Given the description of an element on the screen output the (x, y) to click on. 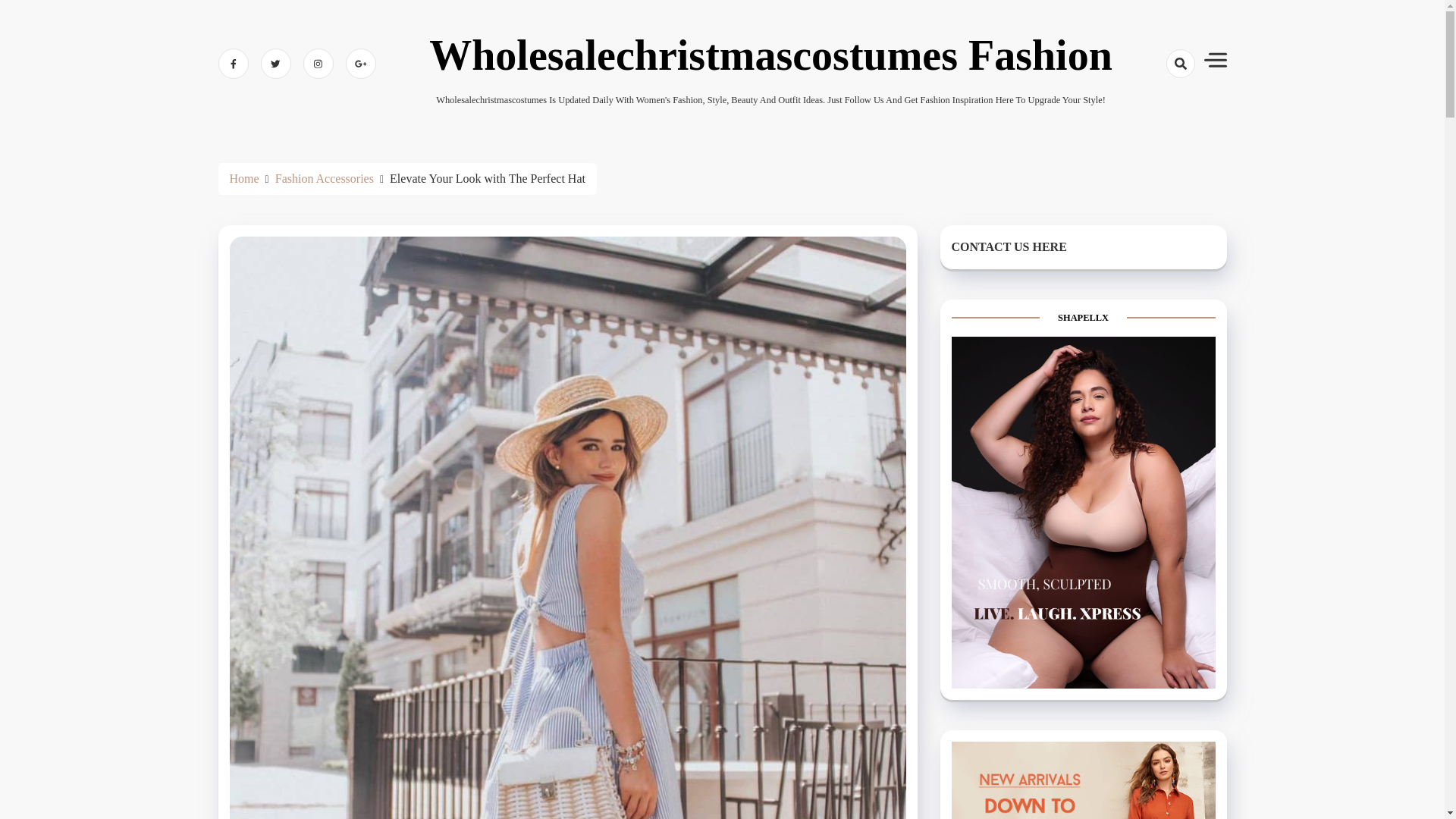
Search (1152, 117)
Home (243, 178)
Fashion Accessories (324, 178)
Wholesalechristmascostumes Fashion (770, 54)
